Given the description of an element on the screen output the (x, y) to click on. 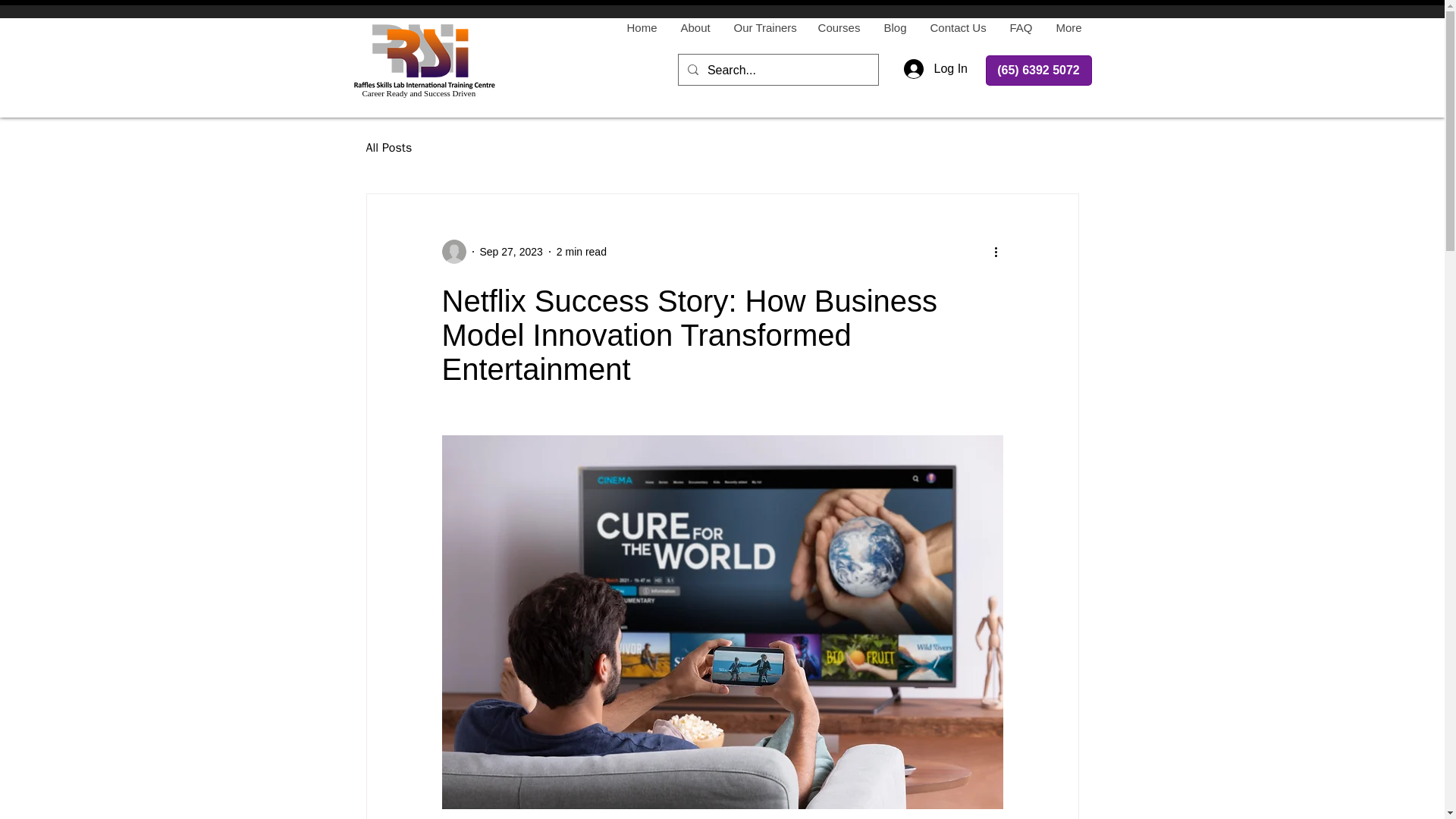
Log In (929, 68)
FAQ (1020, 27)
Courses (837, 27)
Sep 27, 2023 (510, 251)
About (695, 27)
Blog (895, 27)
All Posts (388, 147)
Our Trainers (764, 27)
Contact Us (957, 27)
2 min read (581, 251)
